Given the description of an element on the screen output the (x, y) to click on. 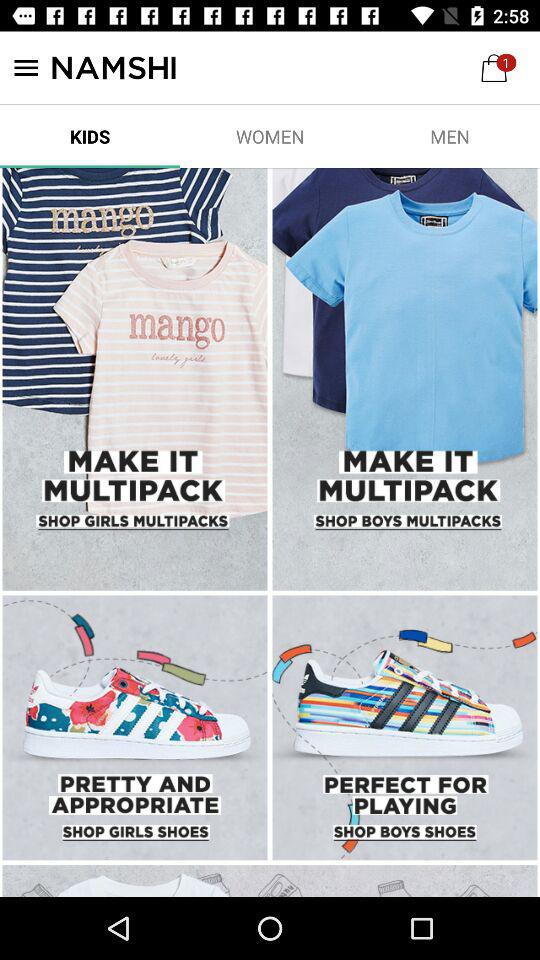
tap the icon next to the women (450, 136)
